Given the description of an element on the screen output the (x, y) to click on. 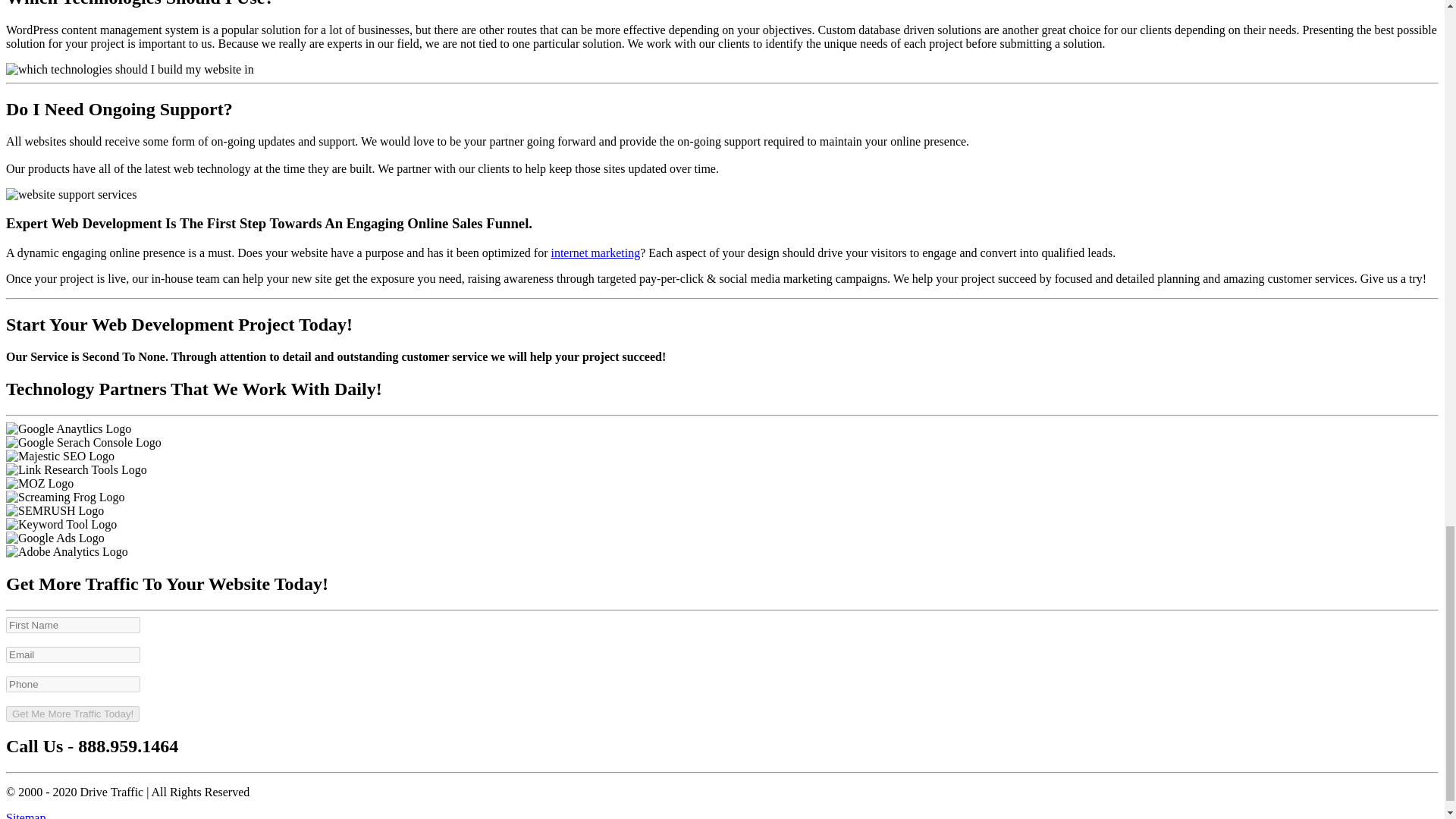
Get Me More Traffic Today! (72, 713)
internet marketing (595, 252)
Get Me More Traffic Today! (72, 713)
